Given the description of an element on the screen output the (x, y) to click on. 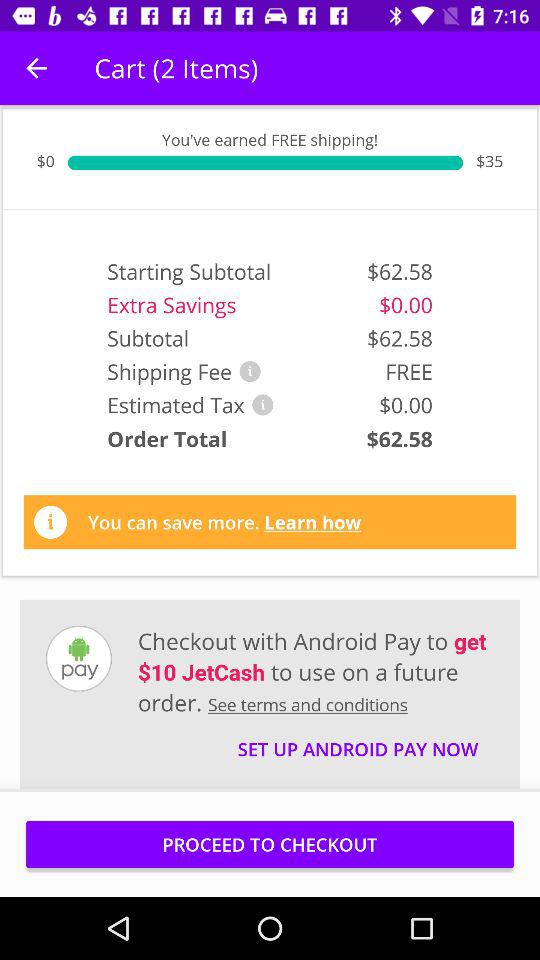
choose the item above the set up android item (315, 671)
